Given the description of an element on the screen output the (x, y) to click on. 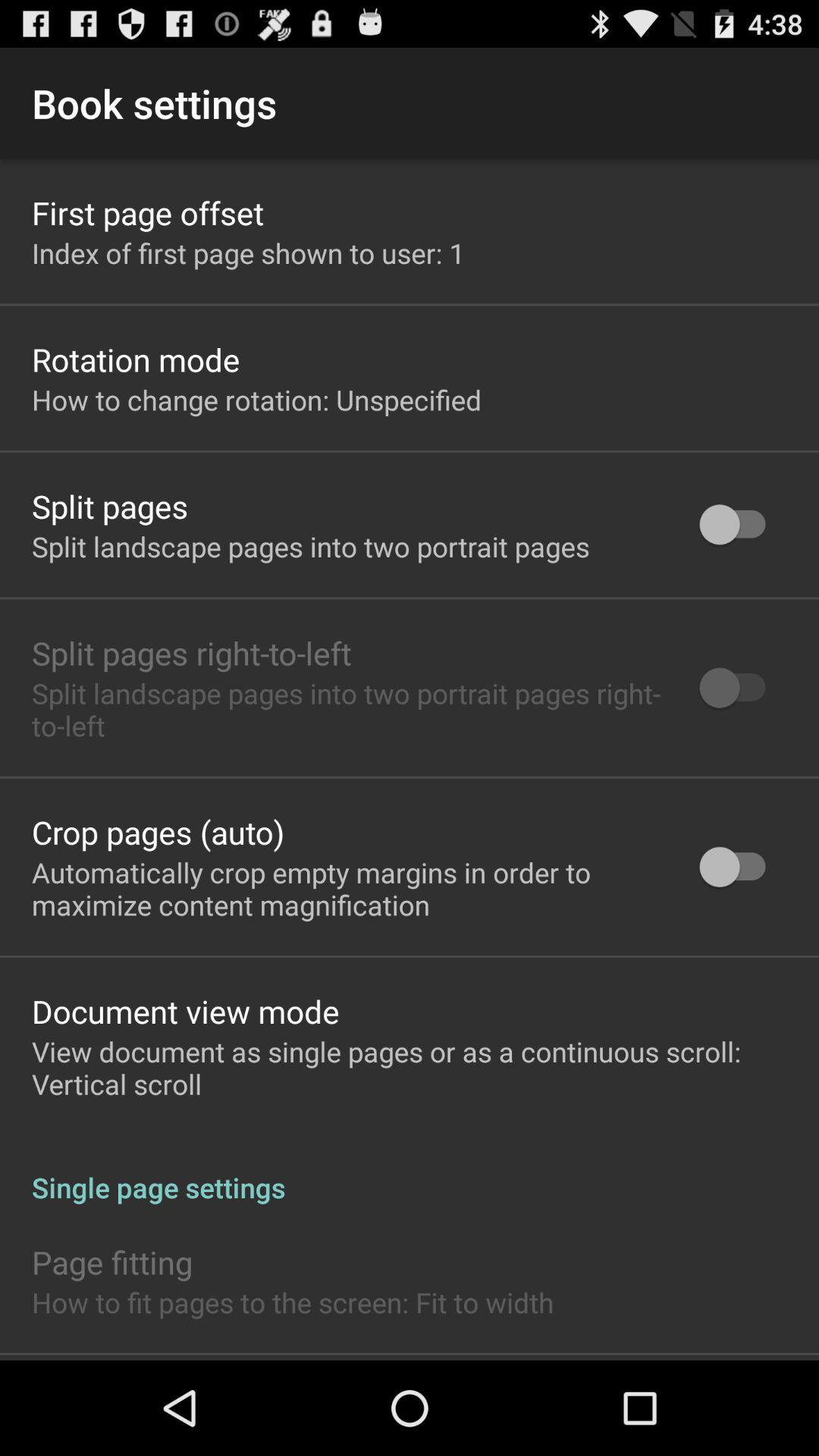
select the icon above the how to change (135, 359)
